Given the description of an element on the screen output the (x, y) to click on. 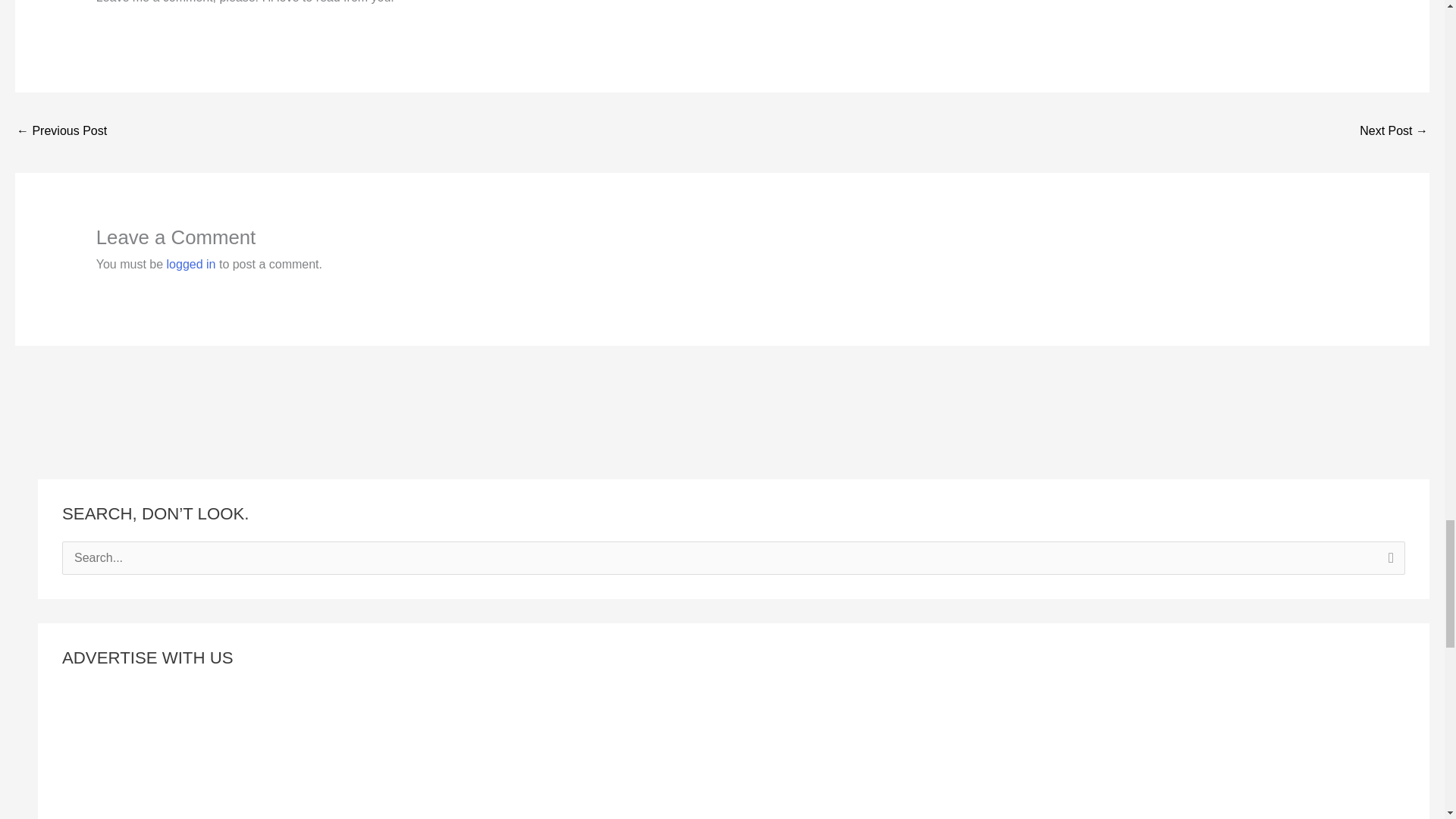
logged in (191, 264)
Advance Happy Birthday Wishes for Best Friend (61, 131)
2024 Best Good Night Messages for Friends (1393, 131)
